Given the description of an element on the screen output the (x, y) to click on. 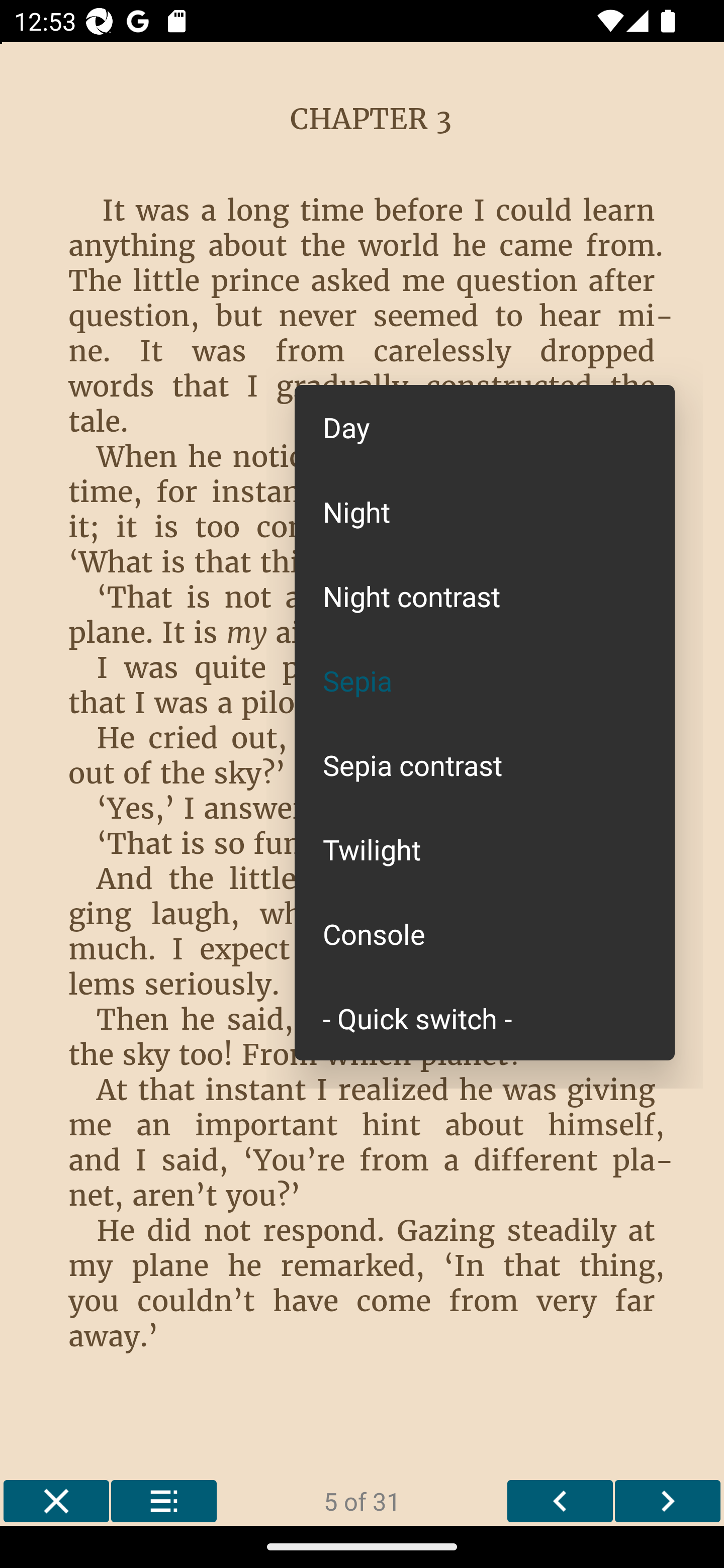
Day (484, 426)
Night (484, 510)
Night contrast (484, 595)
Sepia (484, 680)
Sepia contrast (484, 764)
Twilight (484, 849)
Console (484, 933)
- Quick switch - (484, 1017)
